Given the description of an element on the screen output the (x, y) to click on. 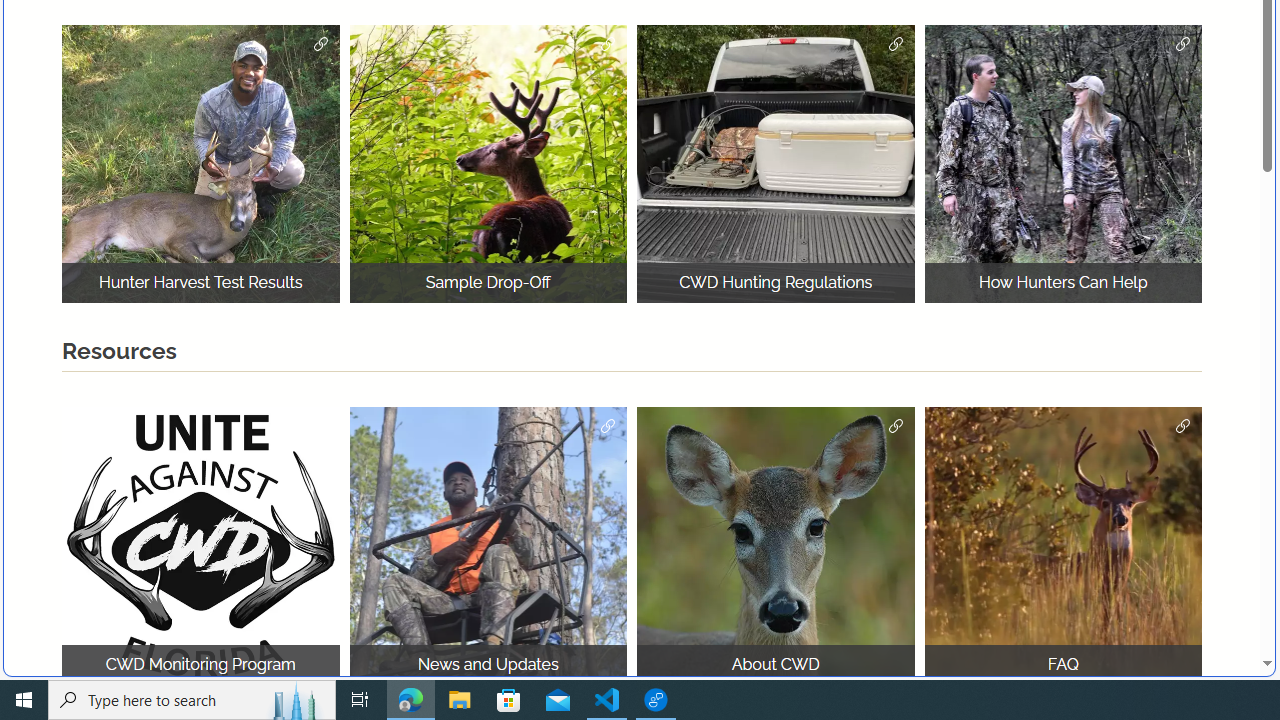
logo for chronic wasting disease program (200, 545)
Joe Budd WMA (1062, 164)
FAQ Photo showing a mature antlered while-tailed deer (1062, 545)
News and Updates (488, 545)
Hunter Harvest Test Results Hunter Harvest (200, 164)
How Hunters Can Help Joe Budd WMA (1062, 164)
About CWD white-tailed deer (776, 545)
Photo showing a mature antlered while-tailed deer (1062, 545)
white-tailed deer (776, 545)
Hunter Harvest (200, 164)
Sample Drop-Off (488, 164)
Photo showing a cooler in the back of a pick up truck (776, 164)
